Given the description of an element on the screen output the (x, y) to click on. 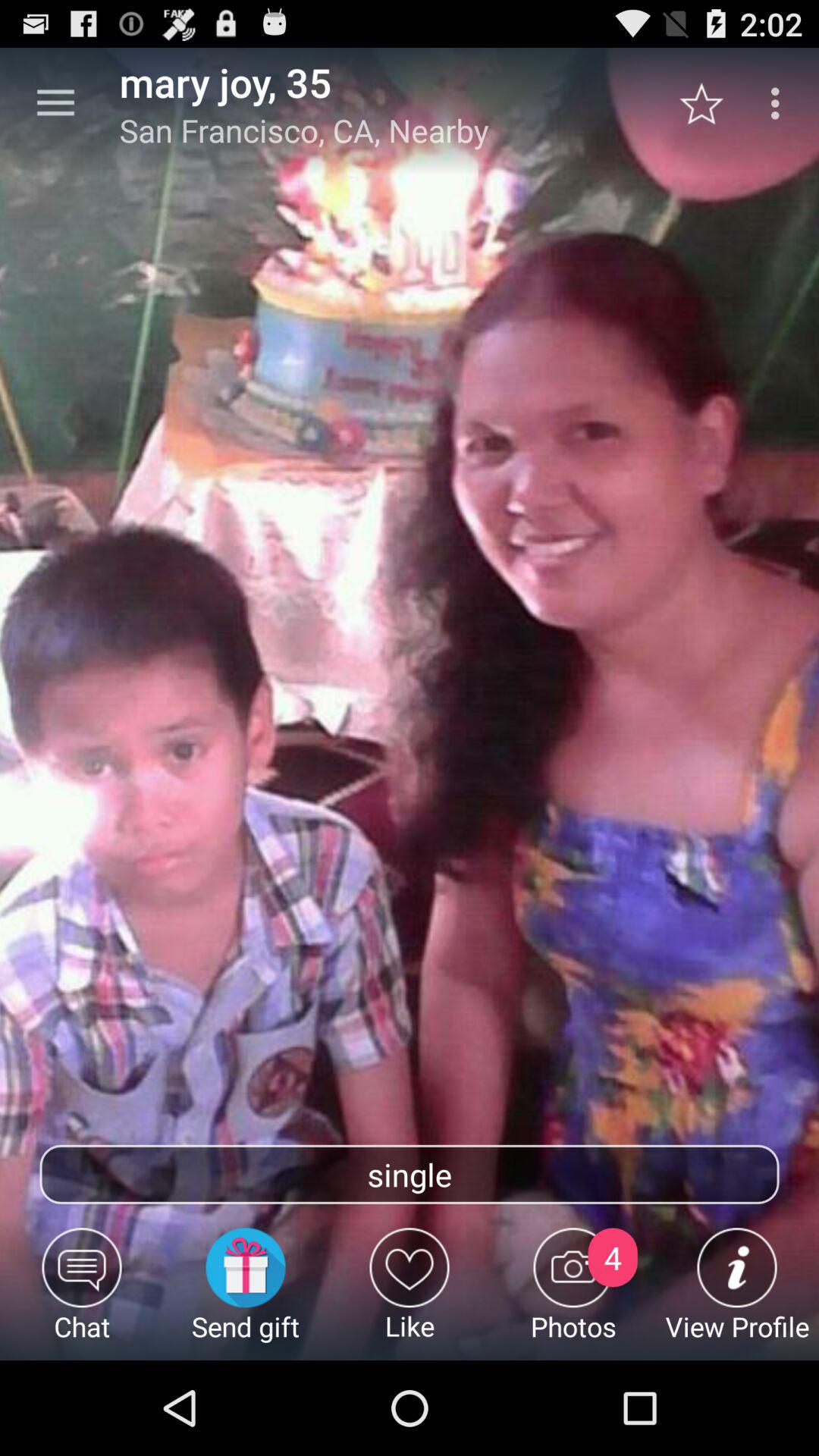
launch app to the left of the mary joy, 35 item (55, 103)
